Given the description of an element on the screen output the (x, y) to click on. 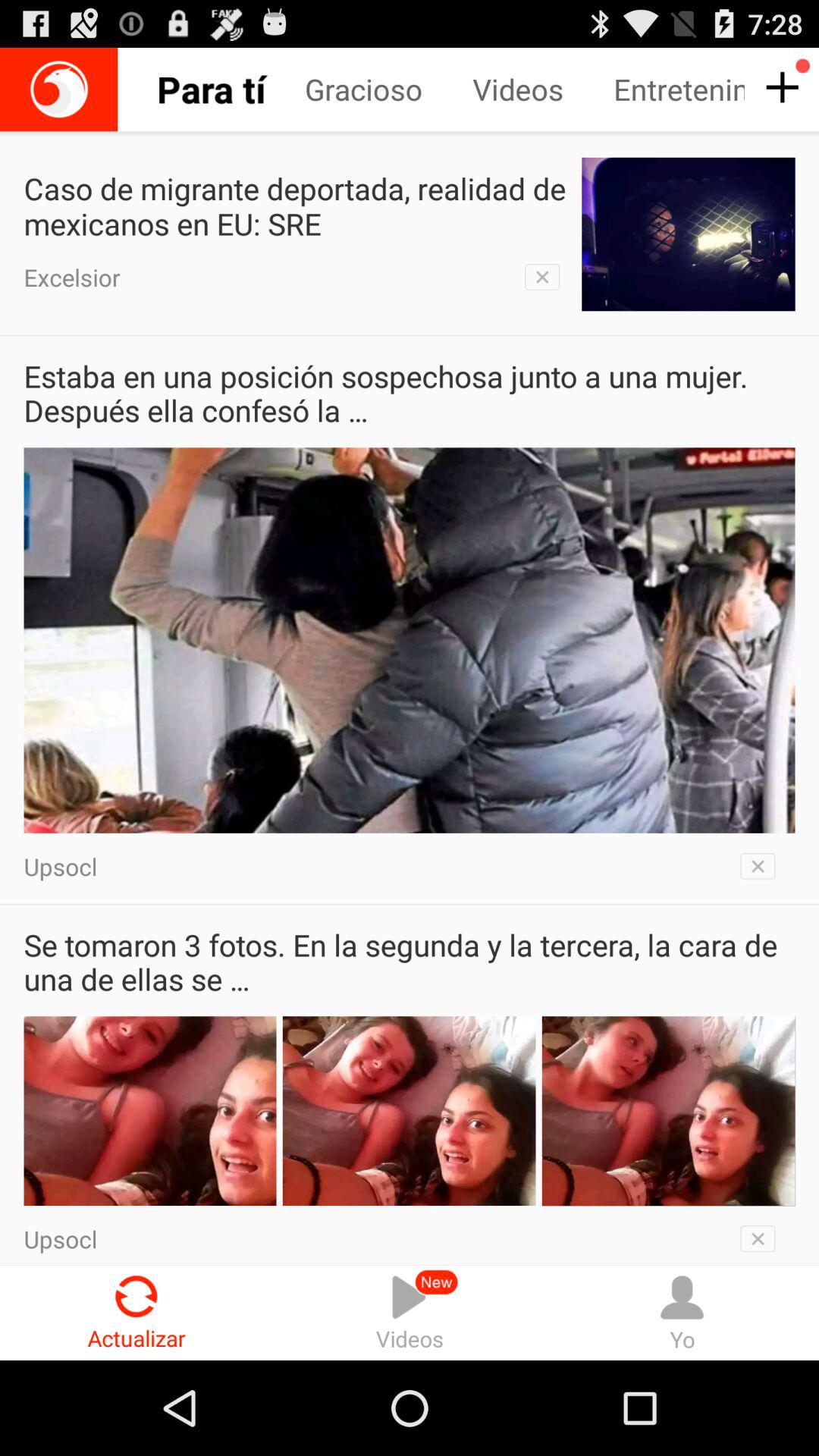
push plus sighn (779, 87)
